Given the description of an element on the screen output the (x, y) to click on. 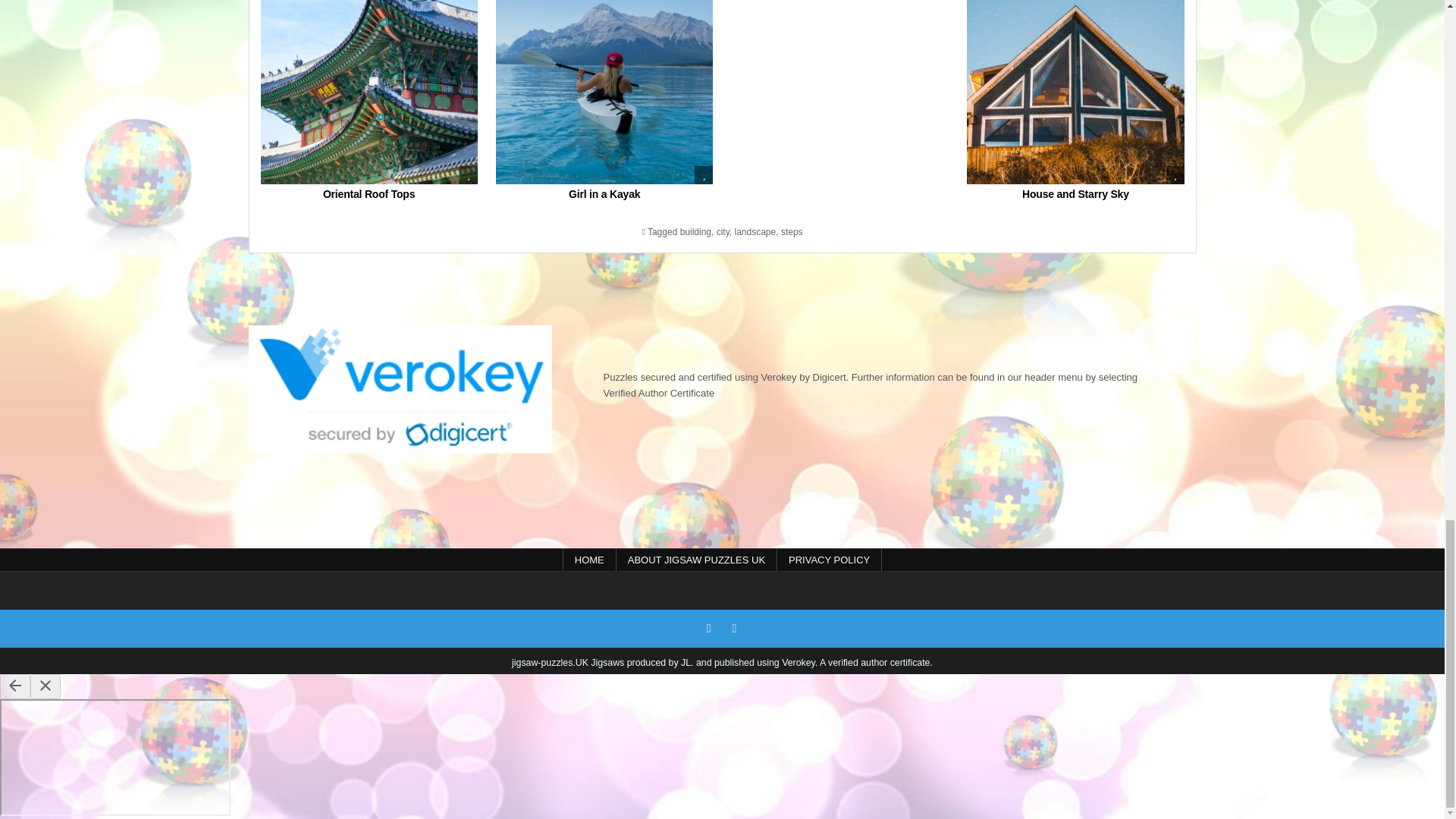
Permanent Link to Oriental Roof Tops (368, 193)
Permanent Link to Girl in a Kayak (604, 92)
Permanent Link to Oriental Roof Tops (368, 92)
